Given the description of an element on the screen output the (x, y) to click on. 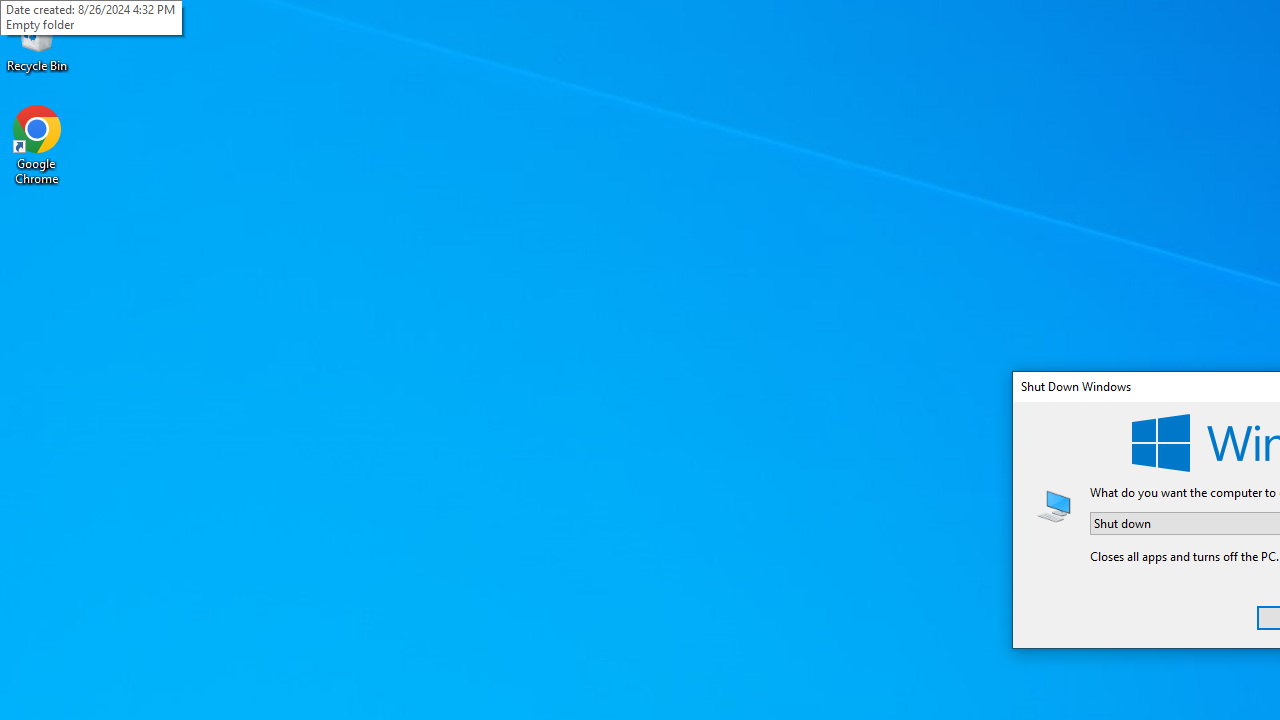
AutomationID: 2027 (1053, 505)
